Given the description of an element on the screen output the (x, y) to click on. 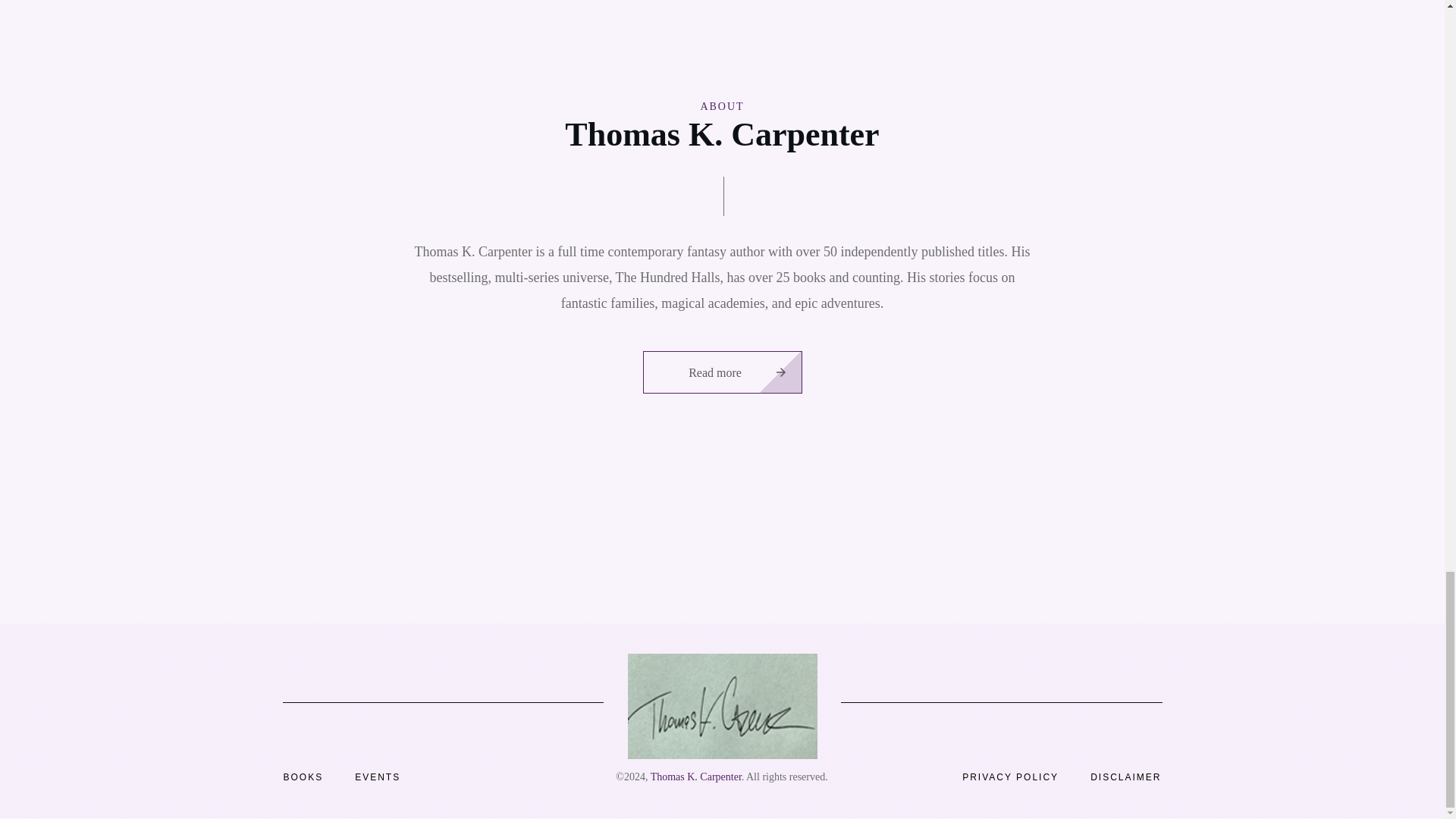
BOOKS (303, 777)
Read more (722, 372)
Thomas K. Carpenter (695, 776)
Thomas K. Carpenter (695, 776)
EVENTS (377, 777)
signature (721, 706)
